Given the description of an element on the screen output the (x, y) to click on. 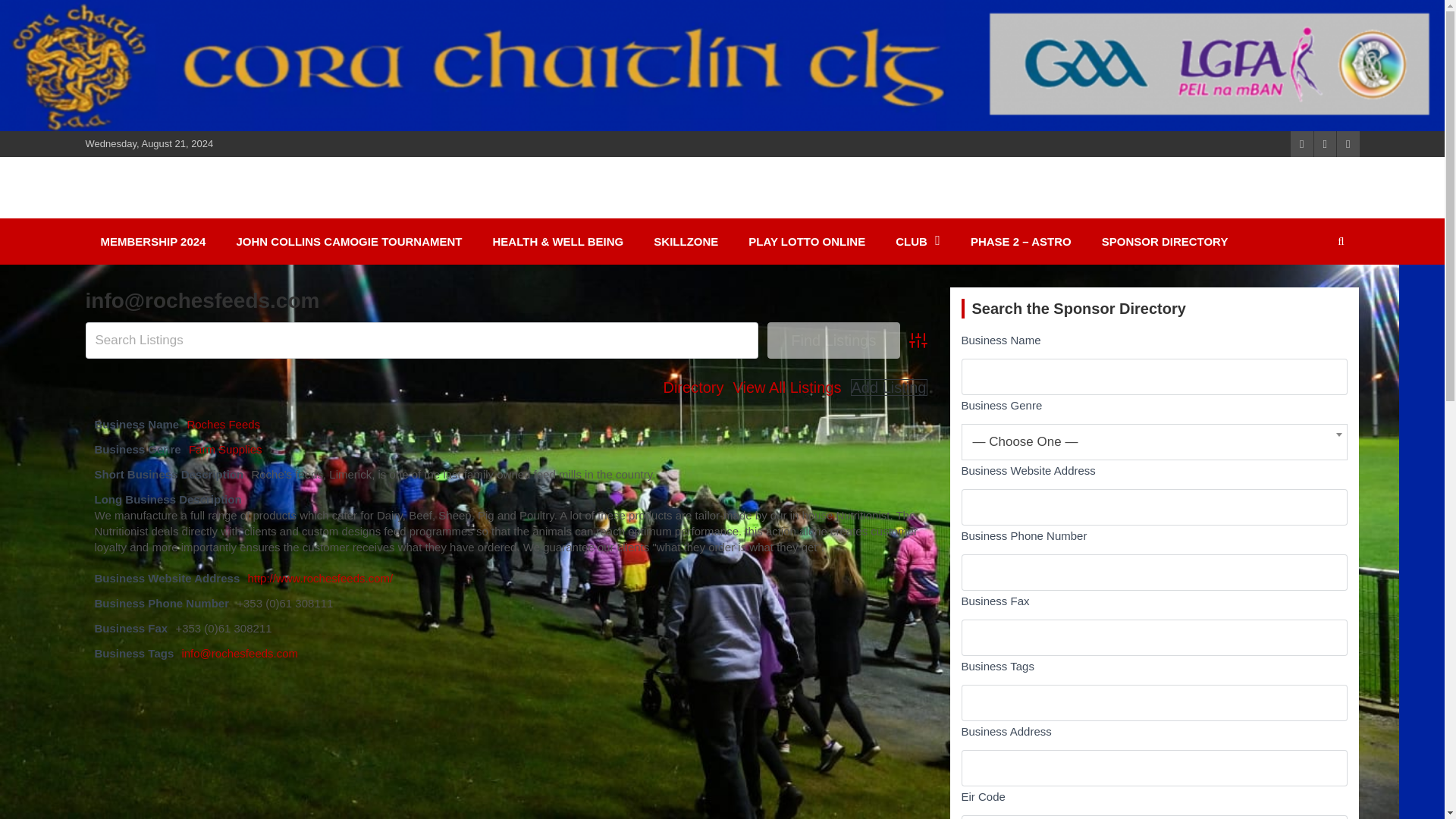
Directory (692, 387)
SKILLZONE (686, 241)
Farm Supplies (225, 449)
Find Listings (833, 340)
View All Listings (786, 387)
Add Listing (888, 387)
CLUB (917, 241)
MEMBERSHIP 2024 (152, 241)
Quick search keywords (421, 340)
SPONSOR DIRECTORY (1164, 241)
